Given the description of an element on the screen output the (x, y) to click on. 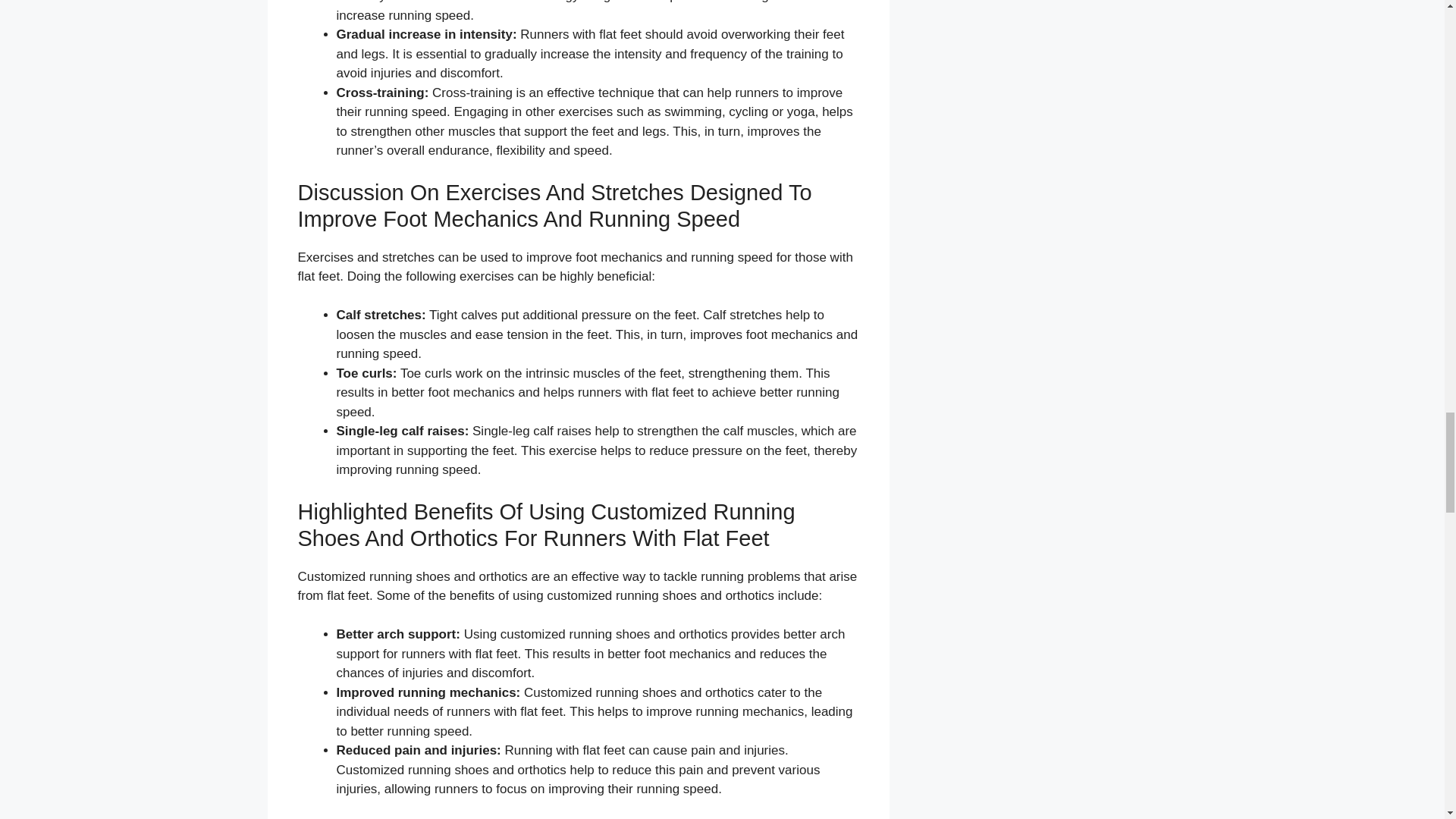
Customized running shoes (373, 576)
